Given the description of an element on the screen output the (x, y) to click on. 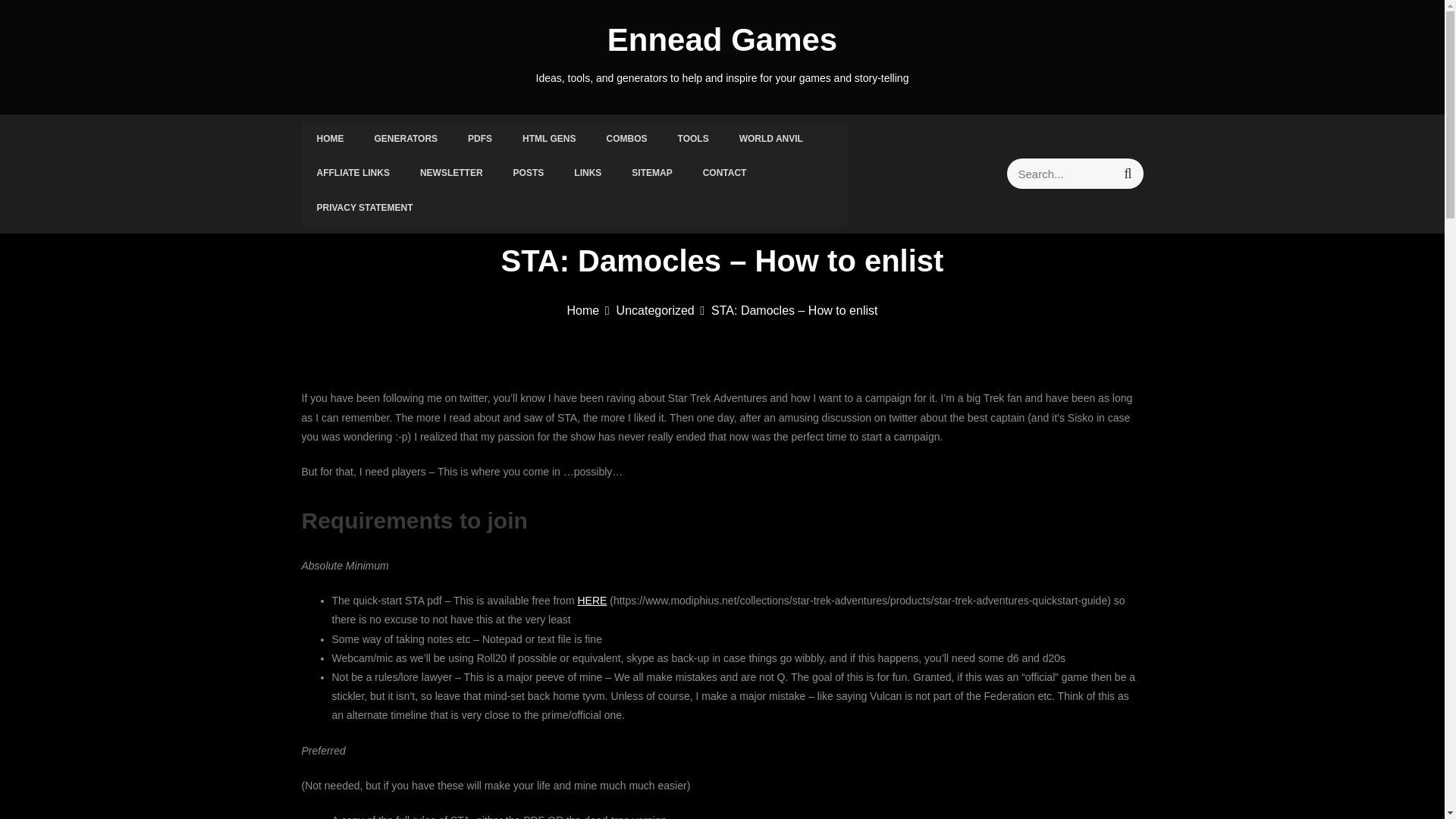
HERE (591, 600)
GENERATORS (405, 139)
WORLD ANVIL (770, 139)
Uncategorized (659, 309)
PDFS (479, 139)
LINKS (587, 173)
TOOLS (692, 139)
POSTS (528, 173)
Search (1127, 173)
Ennead Games (722, 39)
HTML GENS (548, 139)
CONTACT (724, 173)
HOME (330, 139)
AFFLIATE LINKS (352, 173)
SITEMAP (651, 173)
